Given the description of an element on the screen output the (x, y) to click on. 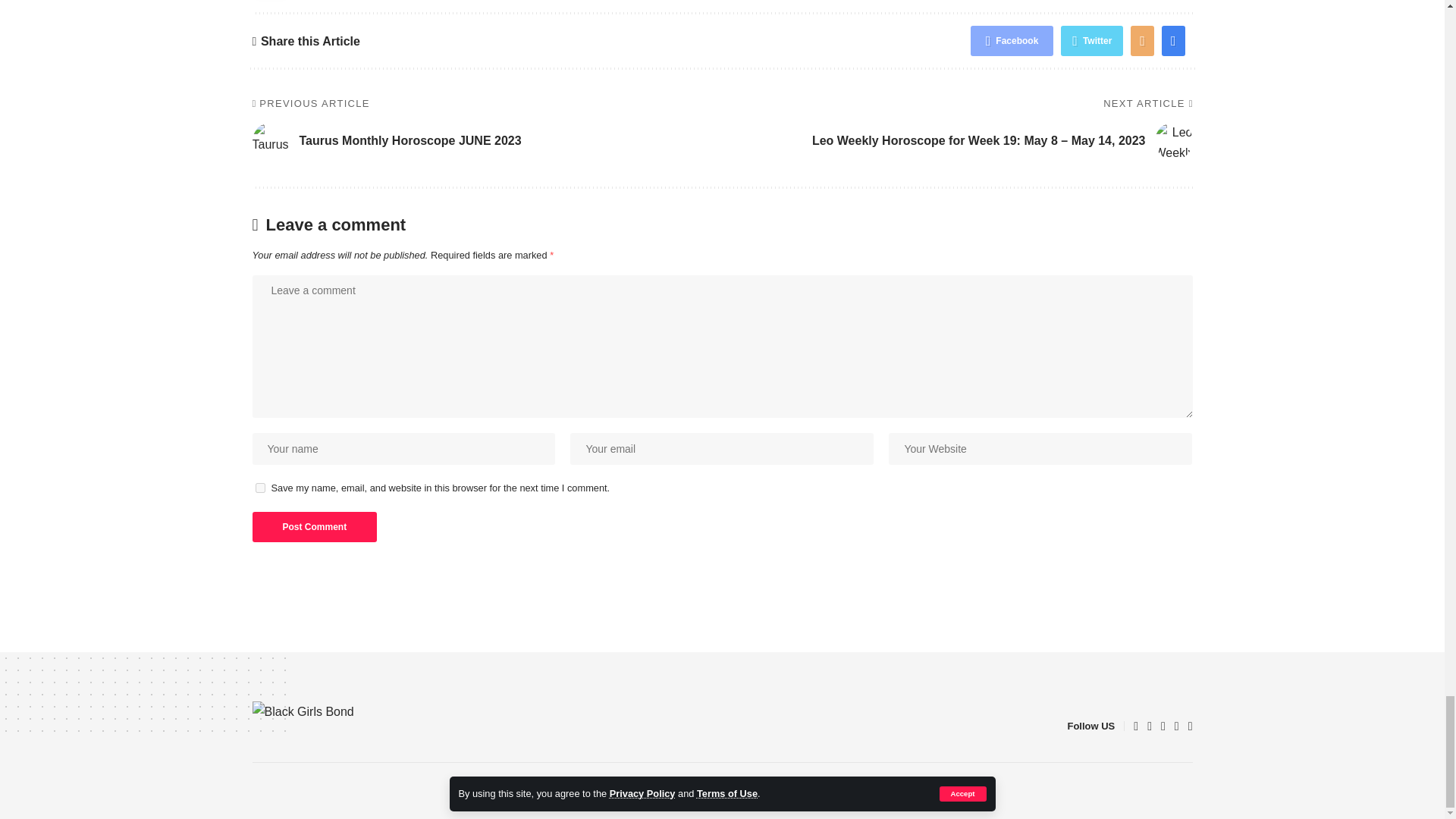
Post Comment (314, 526)
yes (259, 488)
Black Girls Bond (356, 726)
